Given the description of an element on the screen output the (x, y) to click on. 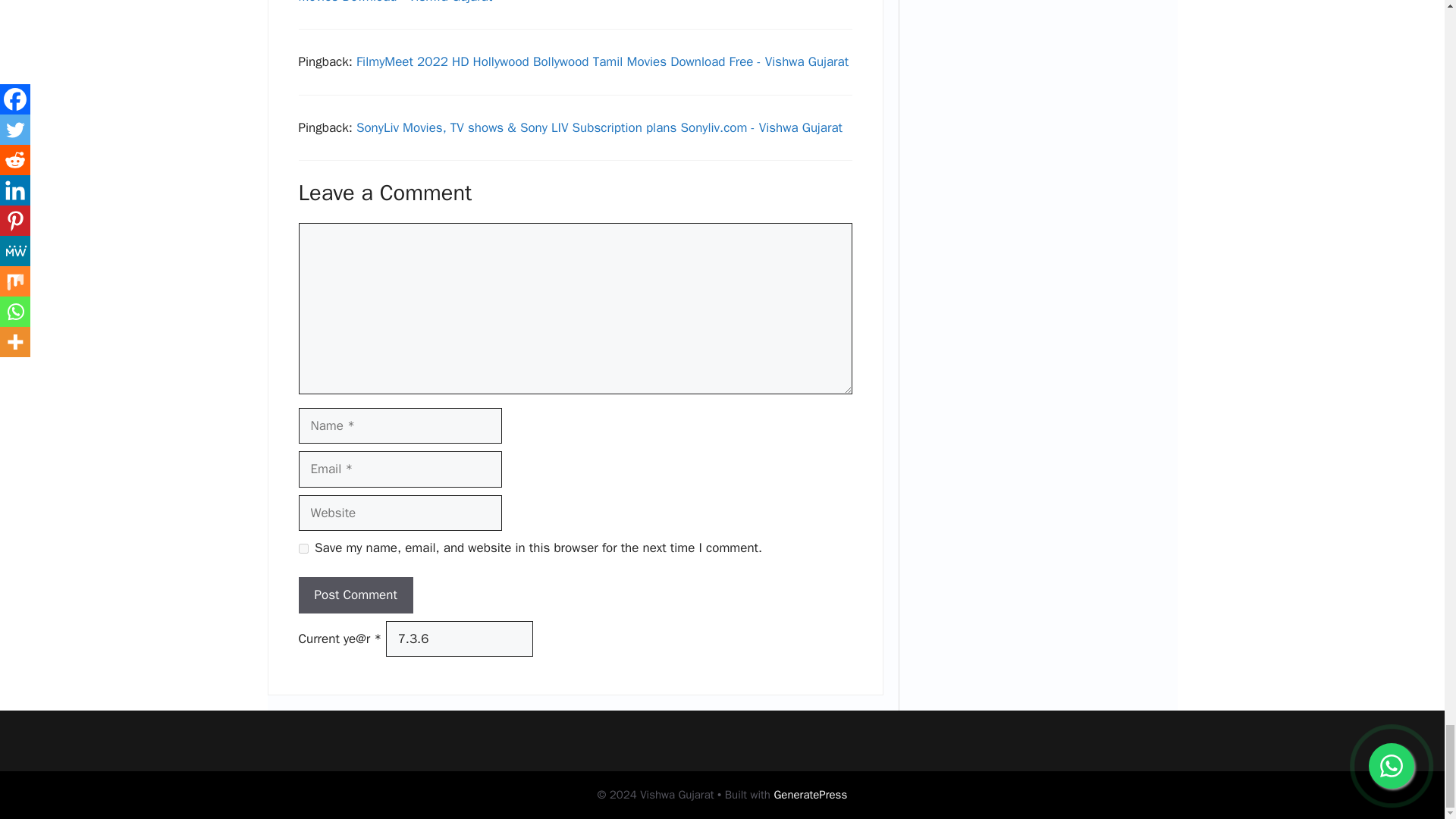
Post Comment (355, 595)
7.3.6 (458, 638)
yes (303, 548)
